Given the description of an element on the screen output the (x, y) to click on. 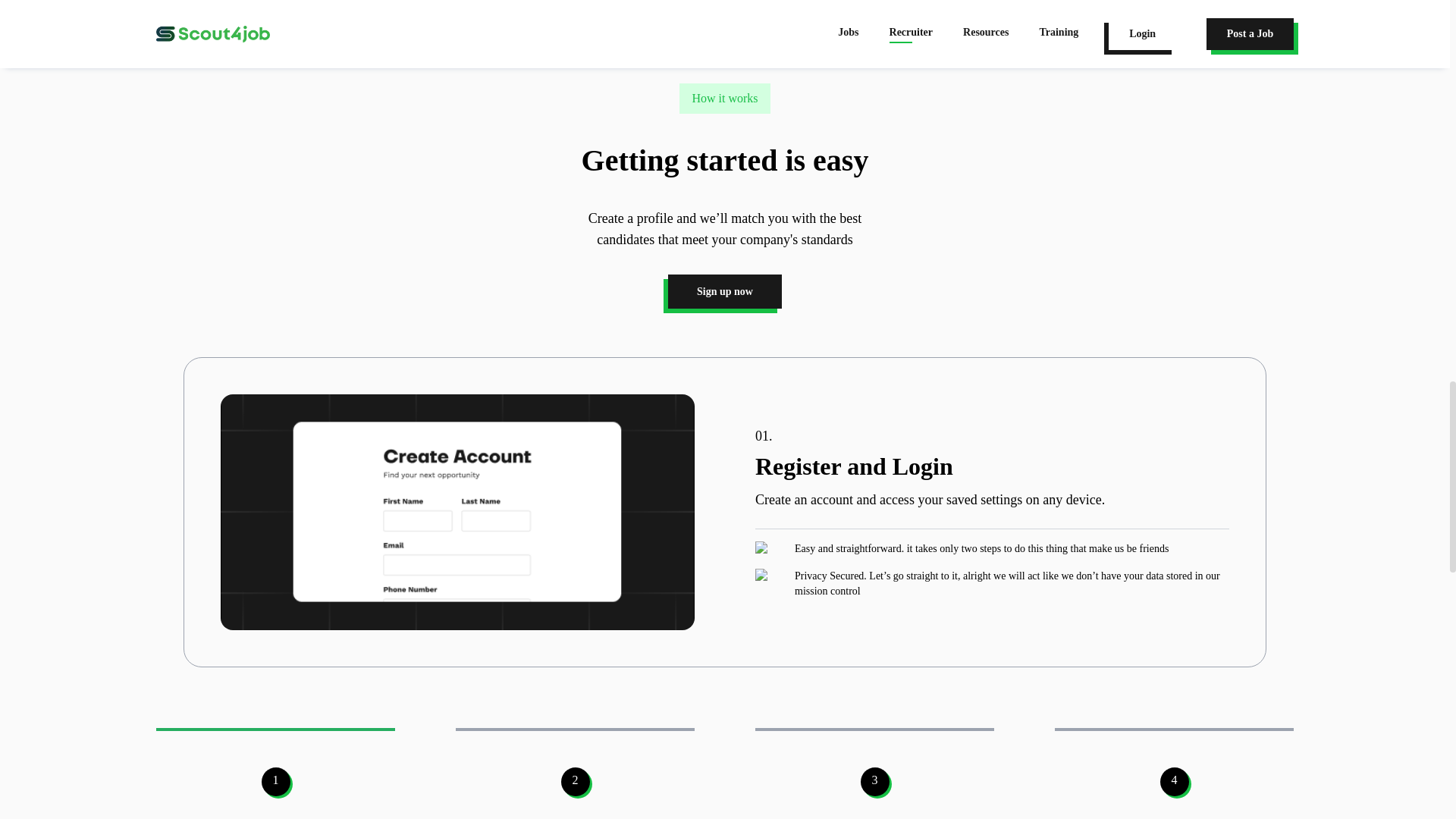
Sign up now (724, 291)
